Given the description of an element on the screen output the (x, y) to click on. 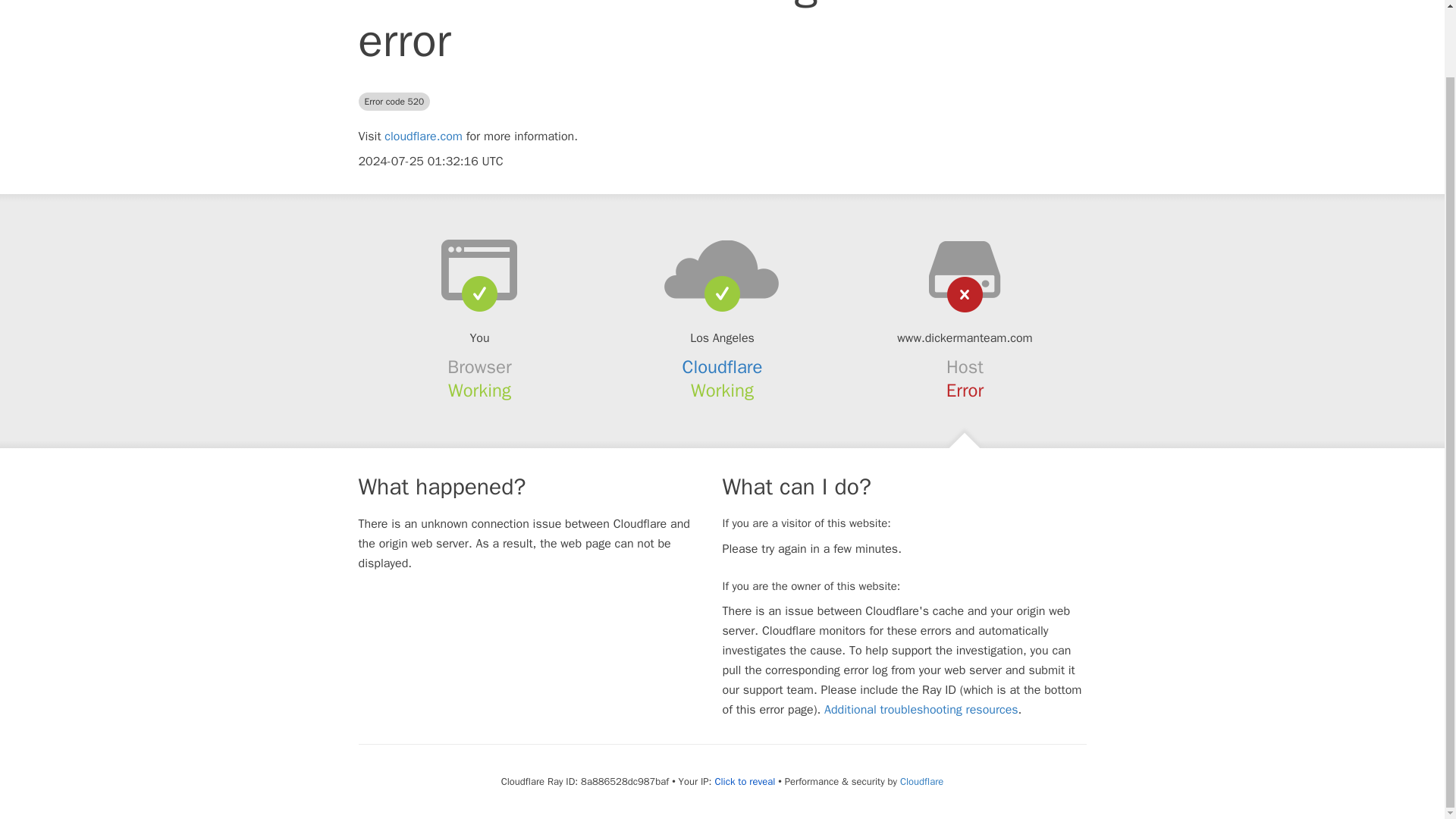
Additional troubleshooting resources (920, 709)
cloudflare.com (423, 136)
Cloudflare (921, 780)
Cloudflare (722, 366)
Click to reveal (744, 781)
